Given the description of an element on the screen output the (x, y) to click on. 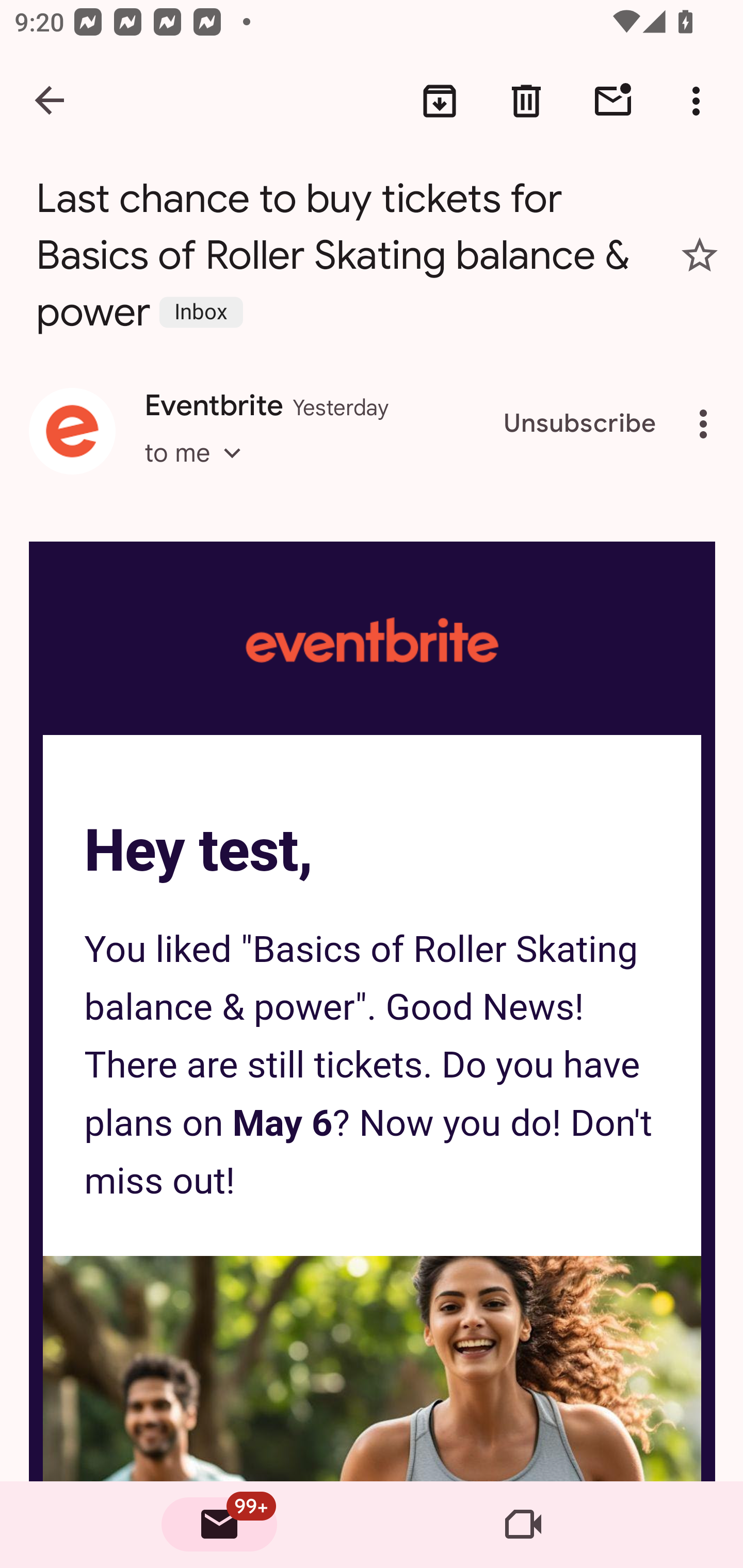
Navigate up (50, 101)
Archive (439, 101)
Delete (525, 101)
Mark unread (612, 101)
More options (699, 101)
Add star (699, 254)
Unsubscribe (579, 424)
More options (706, 424)
Show contact information for Eventbrite (71, 431)
to me (199, 471)
Meet (523, 1524)
